Given the description of an element on the screen output the (x, y) to click on. 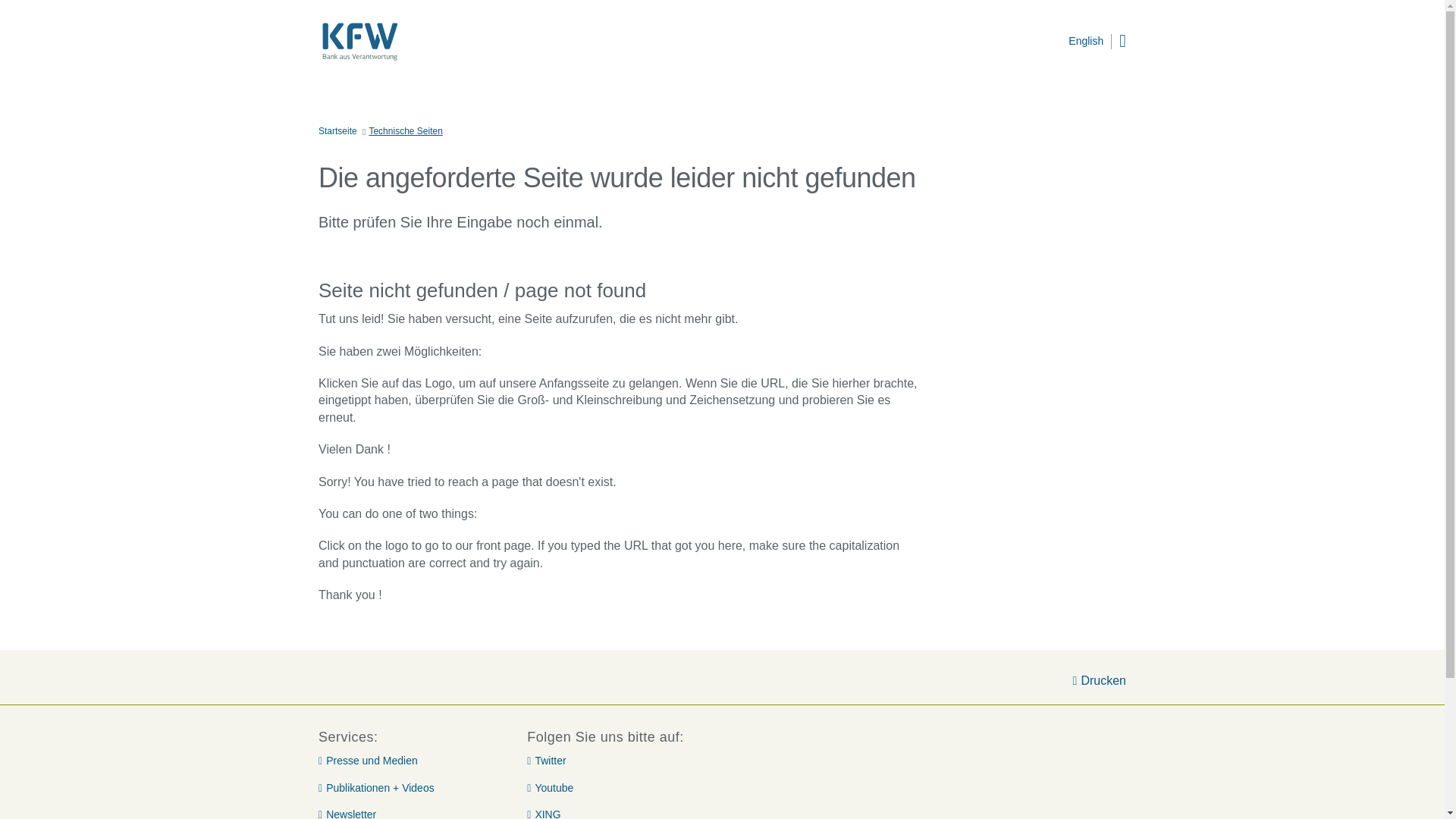
Twitter (546, 761)
Services: (408, 737)
Startseite (337, 131)
Newsletter (346, 813)
Technische Seiten (405, 131)
English (1085, 41)
Presse und Medien (367, 761)
XING (543, 813)
Drucken (1099, 680)
Youtube (550, 788)
